Given the description of an element on the screen output the (x, y) to click on. 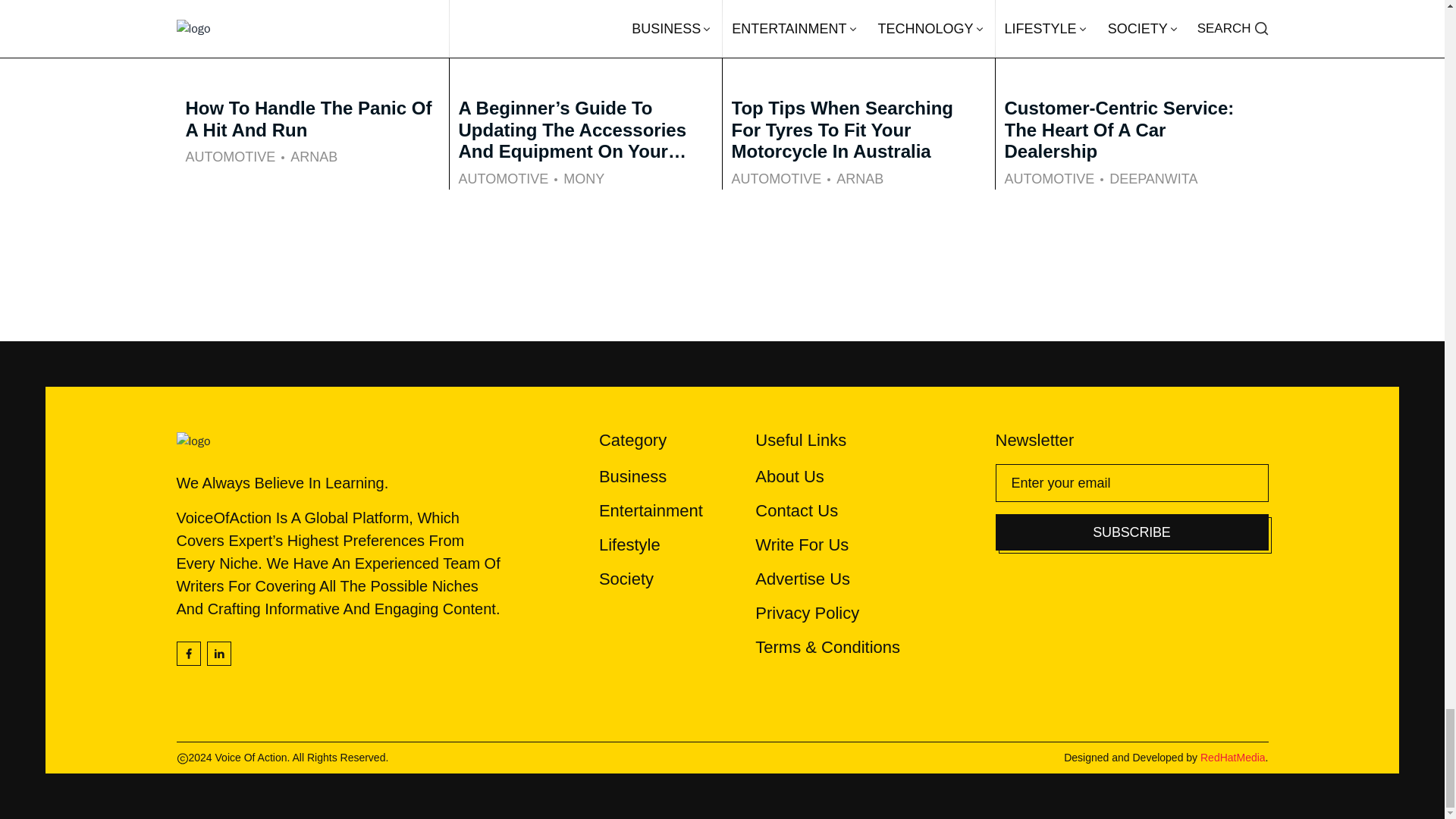
Automotive (229, 157)
Subscribe (1131, 532)
Automotive (775, 178)
Automotive (1049, 178)
Automotive (503, 178)
